Given the description of an element on the screen output the (x, y) to click on. 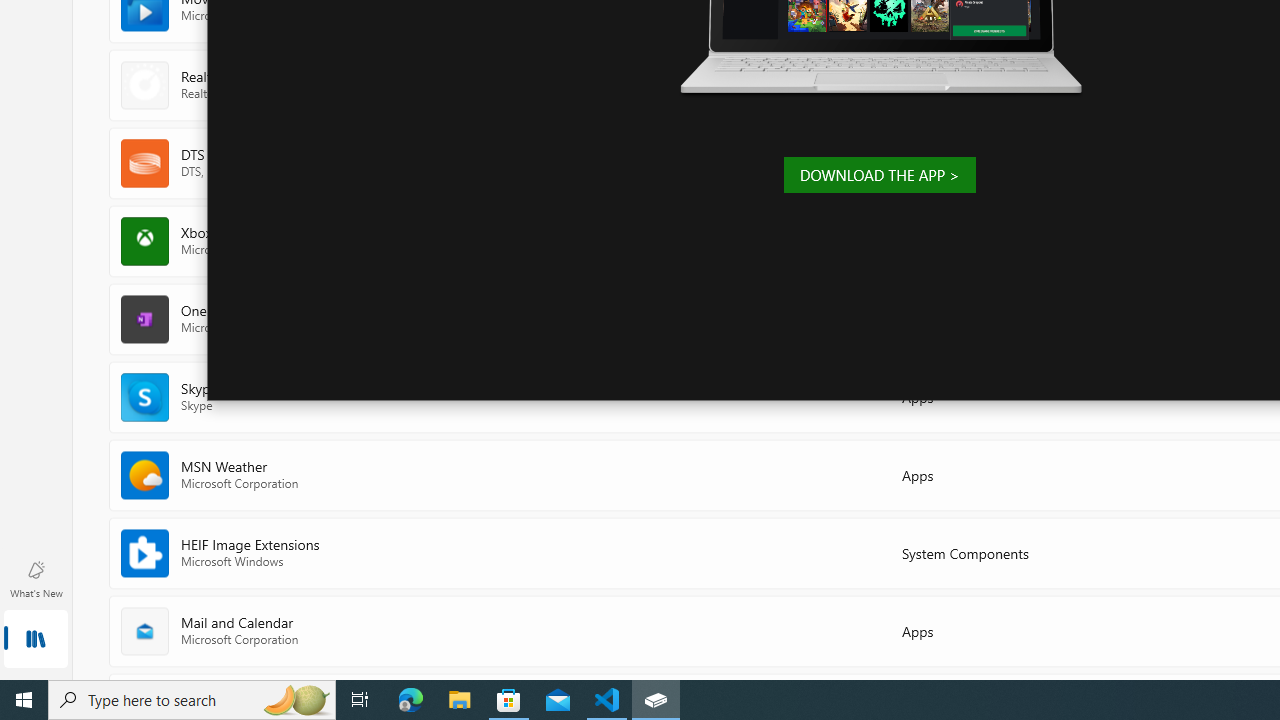
What's New (35, 578)
Visual Studio Code - 1 running window (607, 699)
Type here to search (191, 699)
Library (35, 640)
Search highlights icon opens search home window (295, 699)
File Explorer (460, 699)
DOWNLOAD THE APP > (879, 174)
Task View (359, 699)
Start (24, 699)
Microsoft Edge (411, 699)
Microsoft Store - 1 running window (509, 699)
Xbox Console Companion - 1 running window (656, 699)
